Given the description of an element on the screen output the (x, y) to click on. 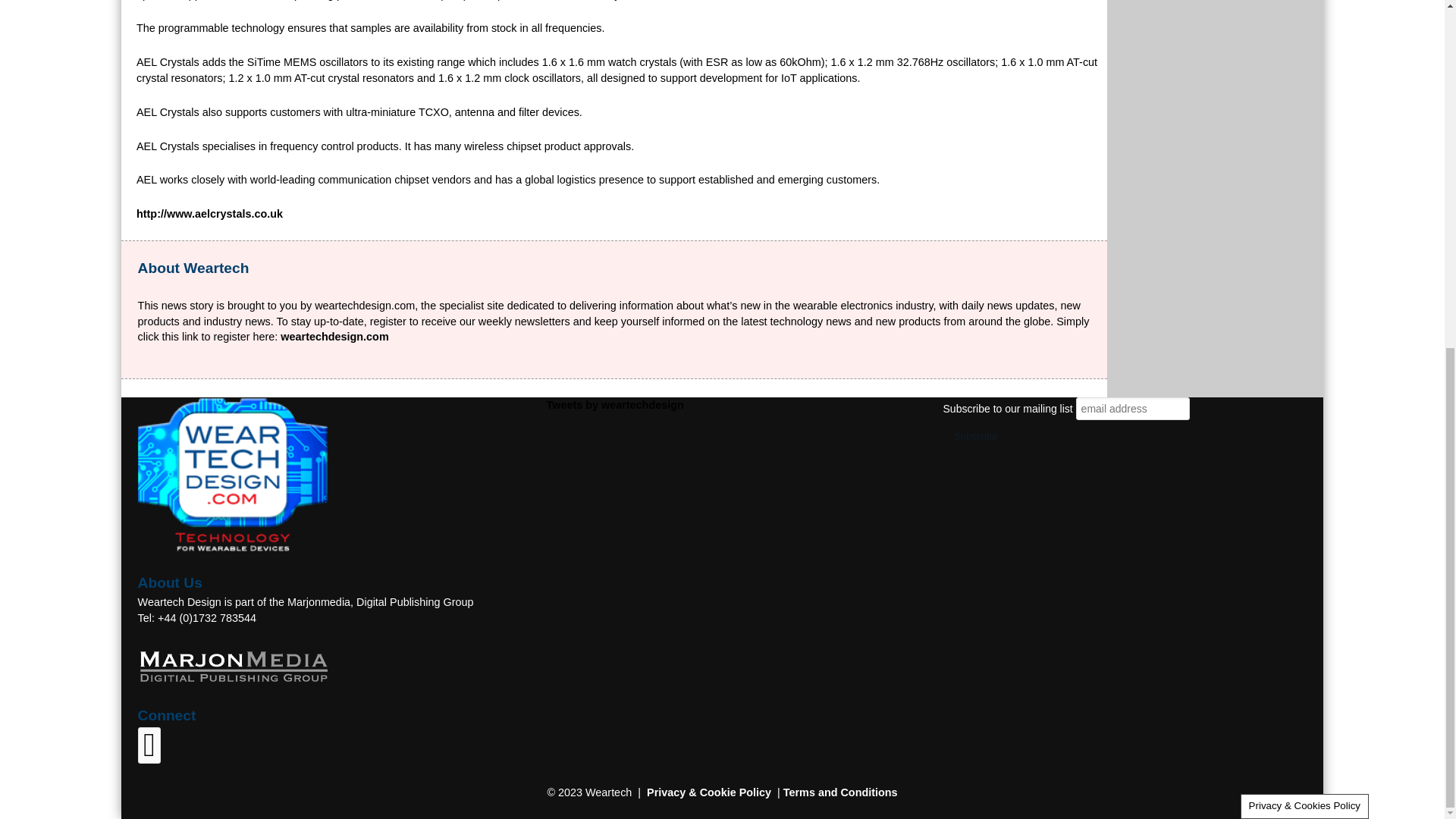
Subscribe (976, 436)
weartechdesign.com (334, 336)
Tweets by weartechdesign (614, 404)
Terms and Conditions (840, 792)
Subscribe (976, 436)
